Given the description of an element on the screen output the (x, y) to click on. 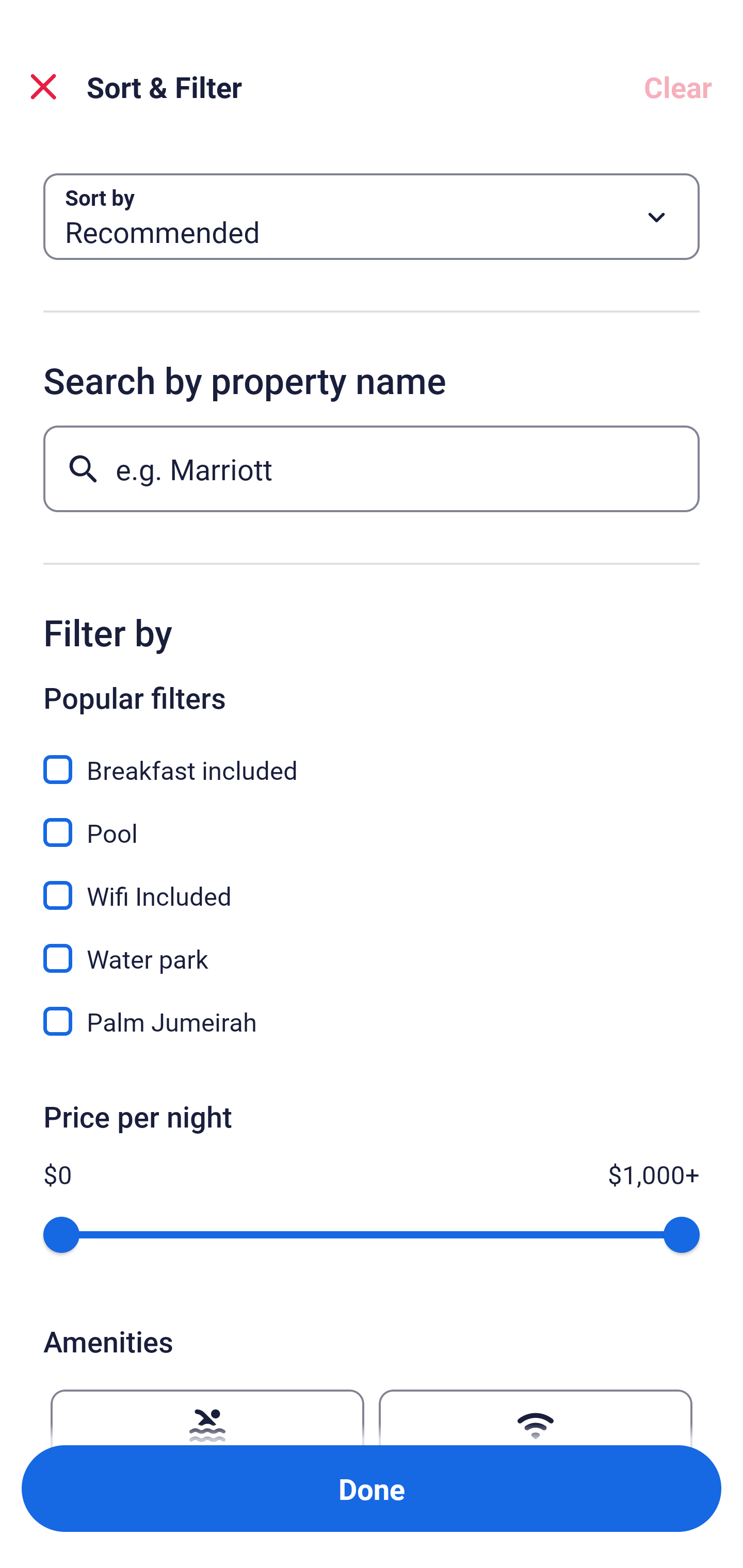
Close Sort and Filter (43, 86)
Clear (677, 86)
Sort by Button Recommended (371, 217)
e.g. Marriott Button (371, 468)
Breakfast included, Breakfast included (371, 757)
Pool, Pool (371, 821)
Wifi Included, Wifi Included (371, 883)
Water park, Water park (371, 946)
Palm Jumeirah, Palm Jumeirah (371, 1021)
Apply and close Sort and Filter Done (371, 1488)
